Given the description of an element on the screen output the (x, y) to click on. 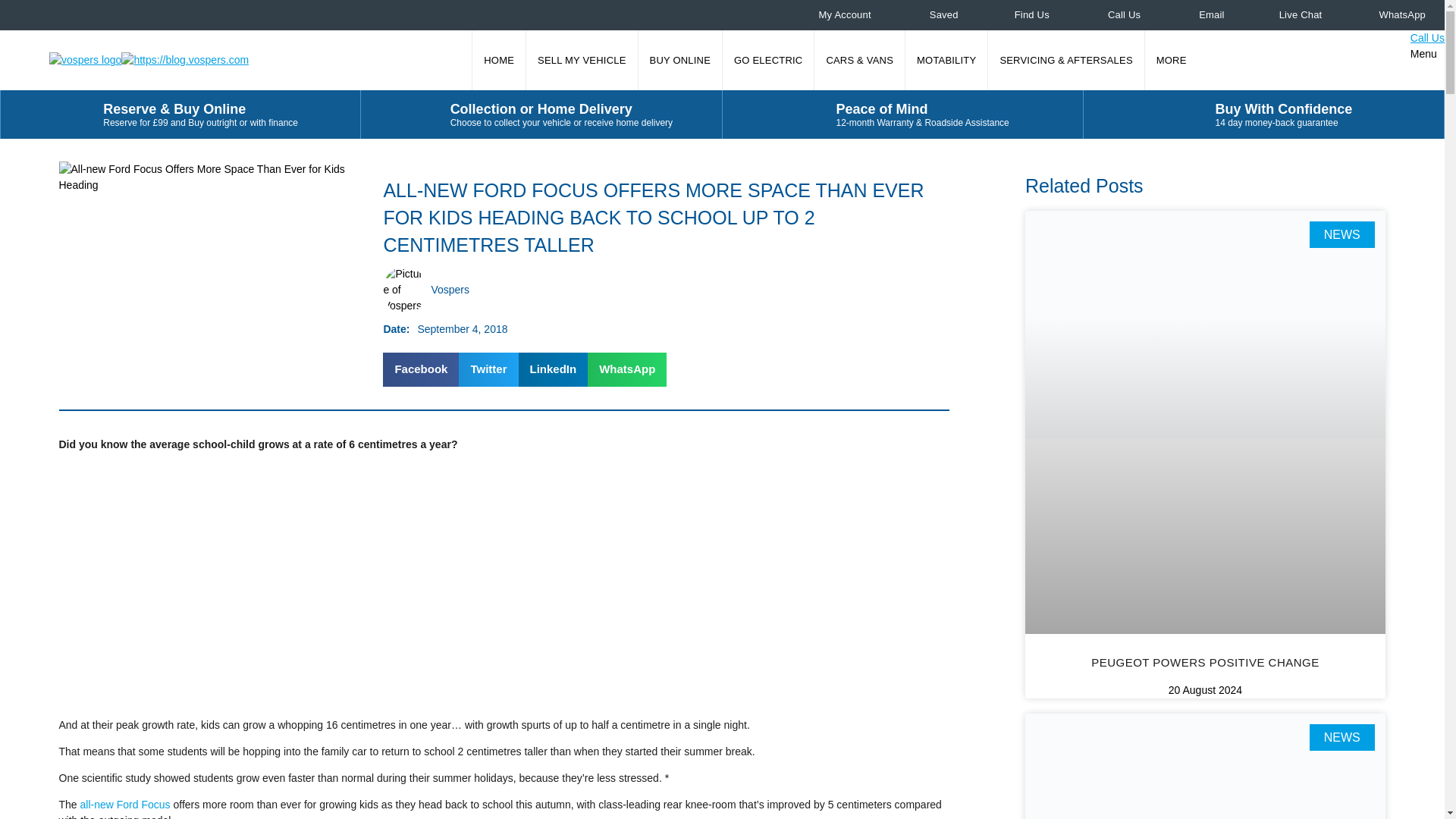
SELL MY VEHICLE (581, 60)
Live Chat (1291, 14)
Find Us (1022, 14)
Call Us (1113, 14)
Email (1200, 14)
My Account (834, 14)
BUY ONLINE (680, 60)
Saved (932, 14)
